Given the description of an element on the screen output the (x, y) to click on. 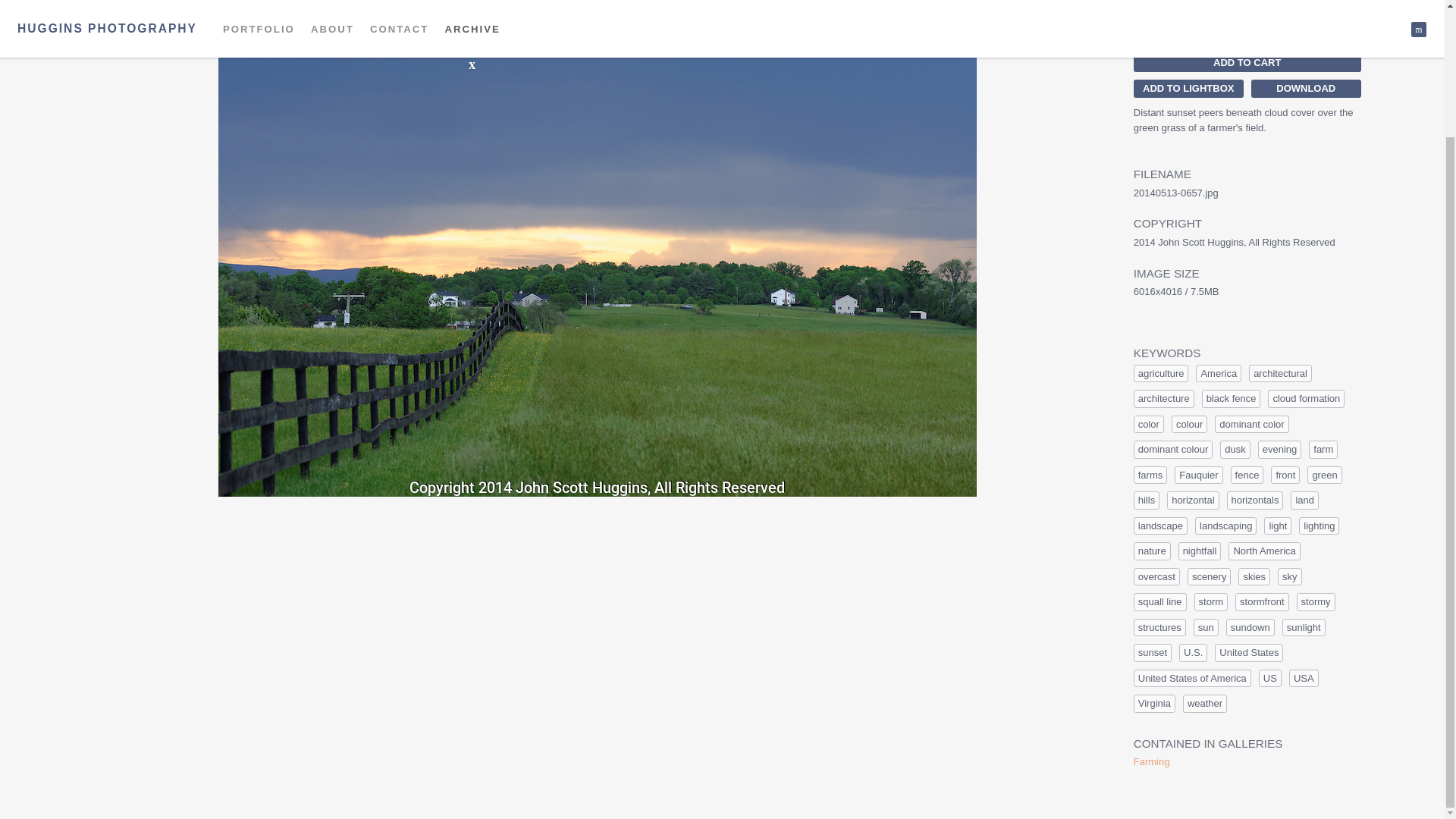
front (1285, 475)
agriculture (1161, 373)
ADD TO CART (1247, 63)
green (1323, 475)
architectural (1280, 373)
Add to Cart (1247, 63)
dominant colour (1173, 449)
landscaping (1225, 525)
hills (1146, 500)
landscape (1161, 525)
fence (1246, 475)
color (1148, 424)
horizontals (1255, 500)
America (1218, 373)
DOWNLOAD (1305, 88)
